Given the description of an element on the screen output the (x, y) to click on. 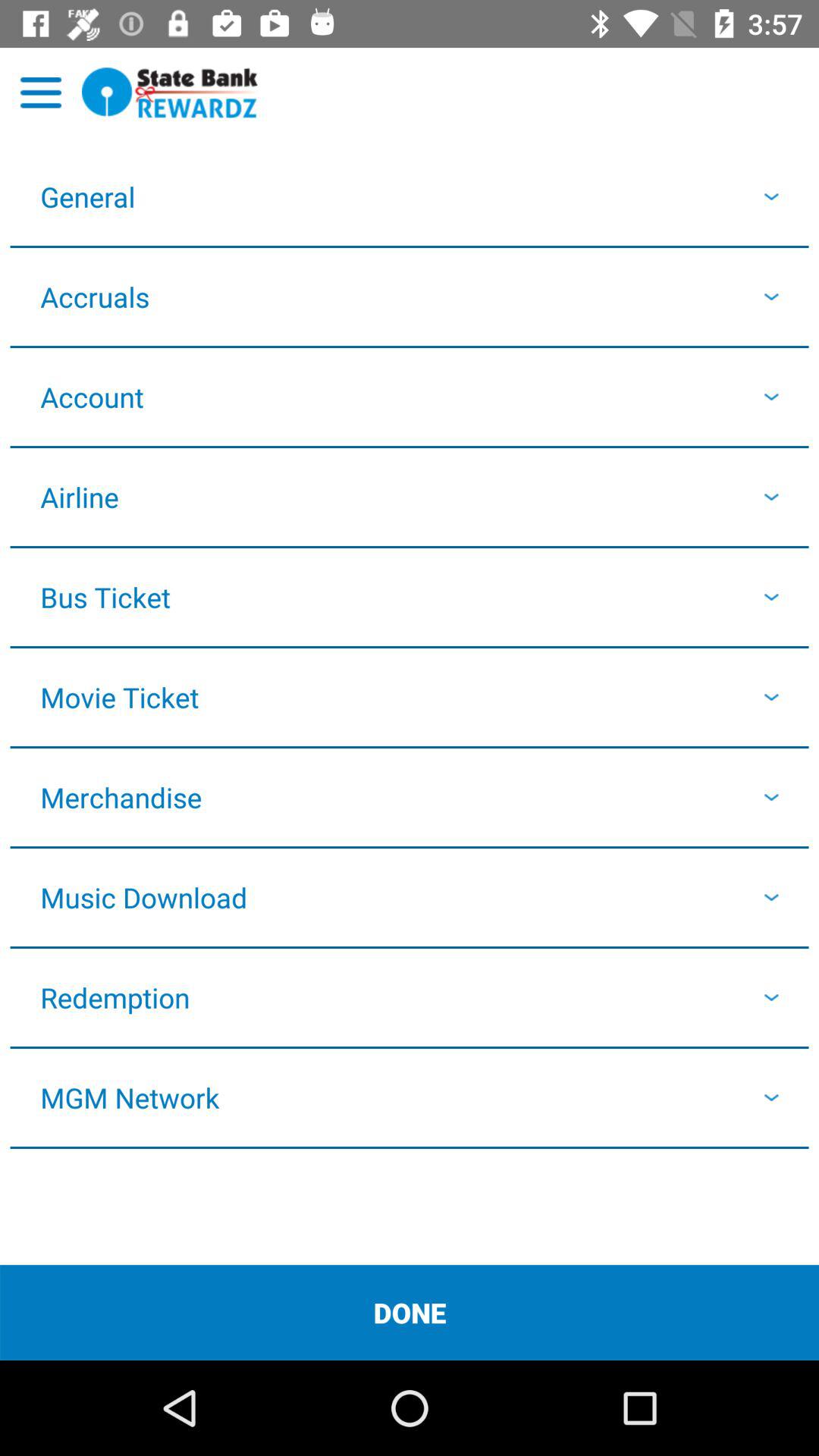
flip until done (409, 1312)
